Given the description of an element on the screen output the (x, y) to click on. 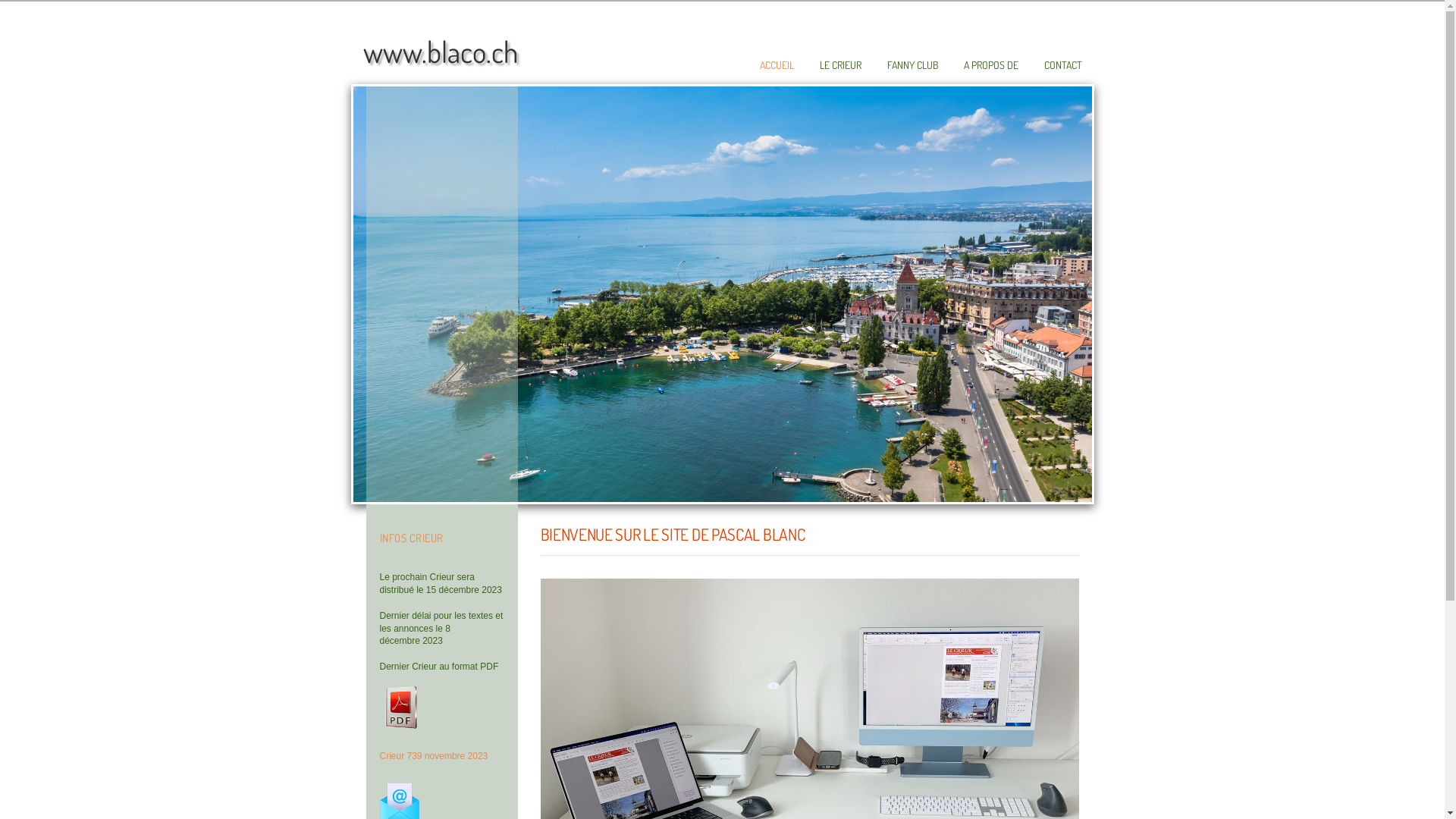
www.blaco.ch Element type: text (439, 50)
BIENVENUE SUR LE SITE DE PASCAL BLANC Element type: text (671, 534)
LE CRIEUR Element type: text (839, 65)
A PROPOS DE Element type: text (989, 65)
ACCUEIL Element type: text (776, 65)
Crieur 739 novembre 2023 Element type: text (433, 755)
CONTACT Element type: text (1062, 65)
FANNY CLUB Element type: text (912, 65)
